Given the description of an element on the screen output the (x, y) to click on. 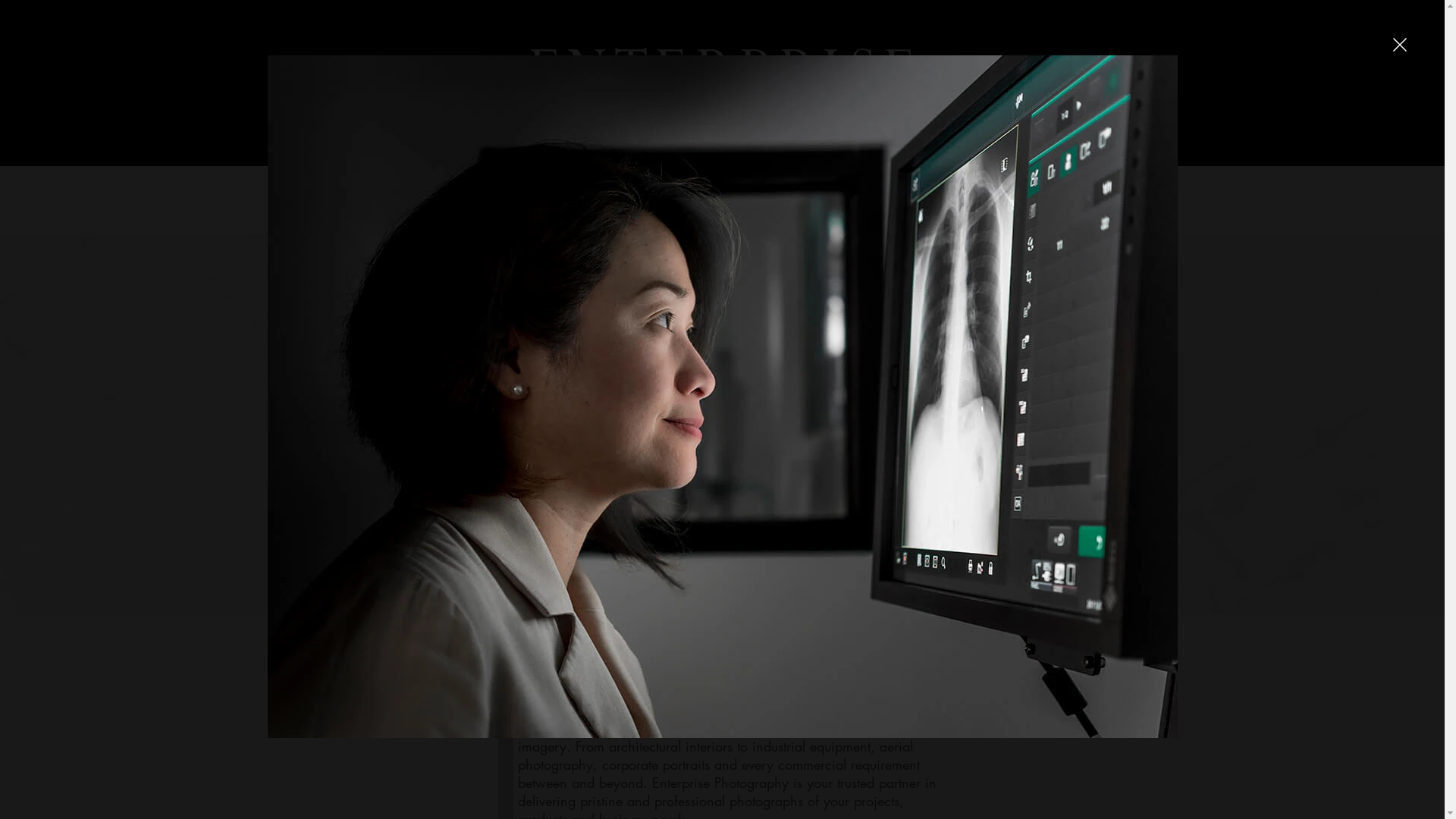
FAQ Element type: text (718, 200)
GALLERY Element type: text (501, 200)
CONTACT Element type: text (936, 200)
